Given the description of an element on the screen output the (x, y) to click on. 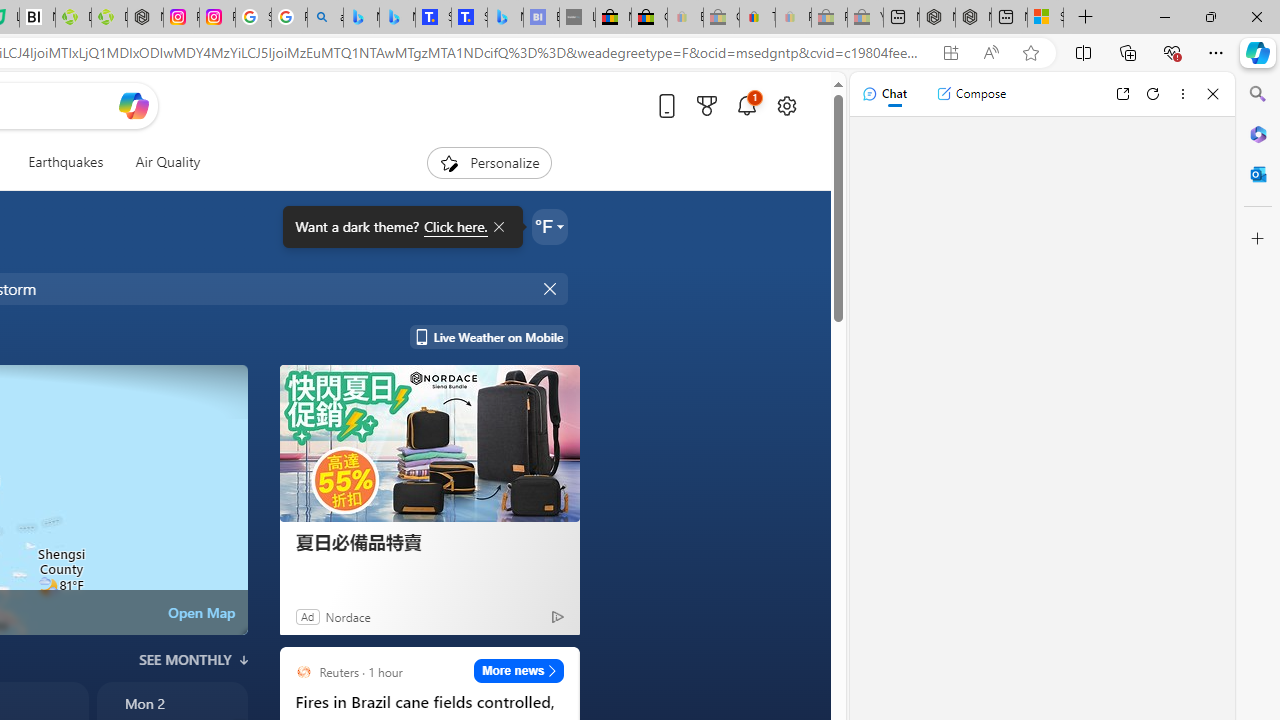
Yard, Garden & Outdoor Living - Sleeping (865, 17)
Payments Terms of Use | eBay.com - Sleeping (793, 17)
Open link in new tab (1122, 93)
Notifications (746, 105)
Open Map (201, 612)
